Given the description of an element on the screen output the (x, y) to click on. 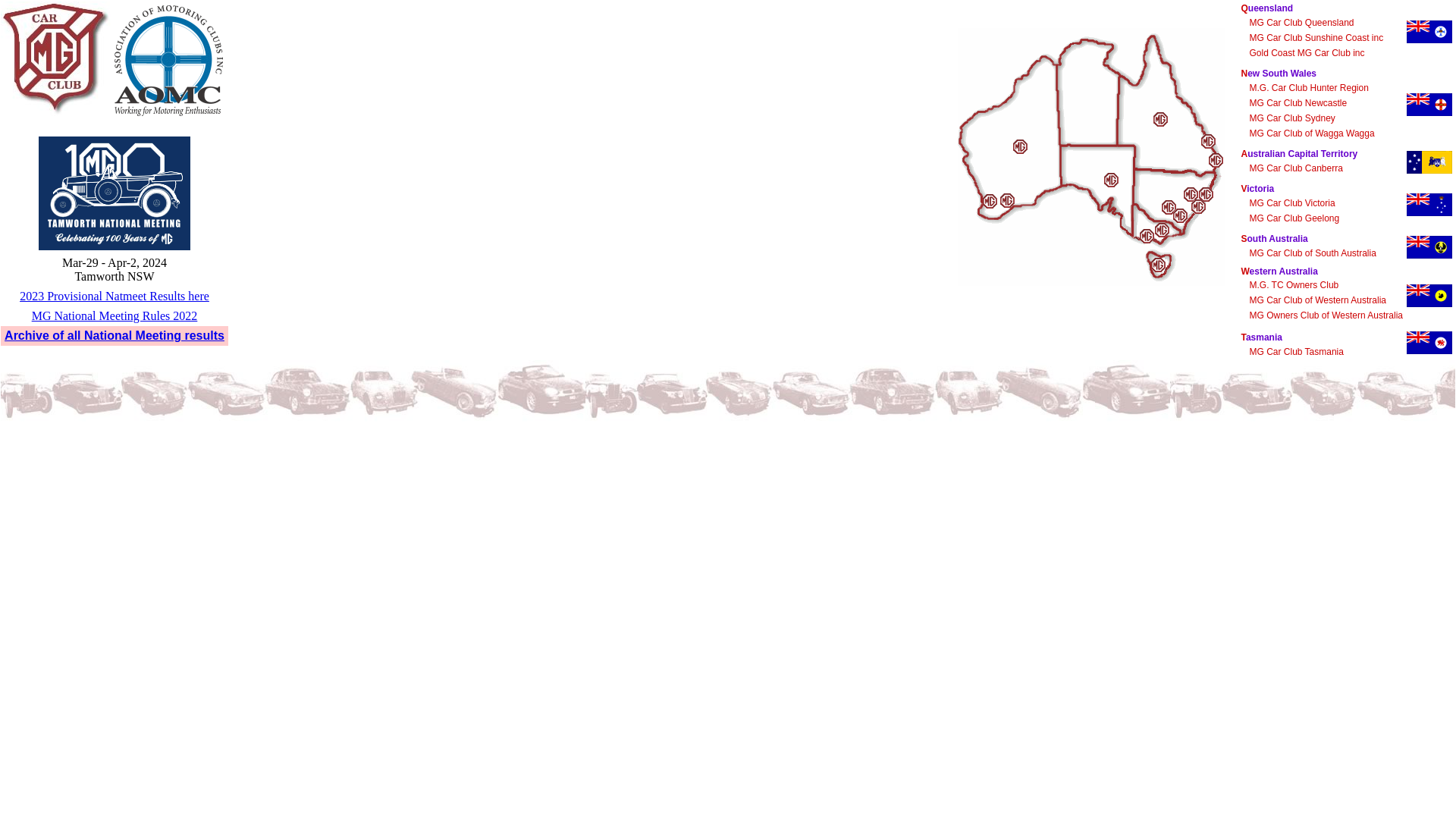
MG TC Owners Club Element type: hover (1020, 146)
MG Car Club Queensland Element type: hover (1160, 119)
MG Car Club of South Australia Element type: text (1311, 252)
Gold Coast MG Car Club inc Element type: text (1306, 52)
Click to enter 2024 National meeting website Element type: hover (114, 193)
MG Car Club Sydney Element type: text (1291, 117)
M.G. Car Club Hunter Region Element type: text (1308, 87)
MG Car Club Newcastle Element type: hover (1206, 194)
MG Car Club Victoria Element type: text (1291, 202)
Archive of all National Meeting results Element type: text (114, 335)
MG Car Club of South Australia Element type: hover (1111, 180)
MG Car Club Geelong Element type: hover (1146, 236)
MG Car Club Sunshine Coast inc Element type: text (1315, 37)
MG Car Club of Western Australia Element type: hover (1007, 200)
MG Car Club Gold Coast Element type: hover (1215, 160)
MG Car Club Victoria Element type: hover (1162, 230)
MG National Meeting Rules 2022 Element type: text (114, 315)
2023 Provisional Natmeet Results here Element type: text (114, 295)
MG Car Club Geelong Element type: text (1293, 218)
MG Car Club Sydney Element type: hover (1198, 206)
MG Owners' Club of Western Australia Element type: hover (989, 201)
MG Car Club Newcastle Element type: text (1297, 102)
MG Car Club Tasmania Element type: text (1295, 351)
MG Car Club Tasmania Element type: hover (1158, 265)
MG Car Club Canberra Element type: text (1295, 168)
M.G. TC Owners Club Element type: text (1293, 284)
MG Car Club of Wagga Wagga Element type: text (1311, 133)
MG Car Club Queensland Element type: text (1300, 22)
MG Car Club Canberra Element type: hover (1180, 215)
MG Car Club Hunter Region Element type: hover (1190, 194)
MG Car Club Sunshine Coast Element type: hover (1208, 141)
MG Car Club of Western Australia Element type: text (1317, 299)
MG Owners Club of Western Australia Element type: text (1325, 315)
MG Car Club Wagga Element type: hover (1168, 207)
